Given the description of an element on the screen output the (x, y) to click on. 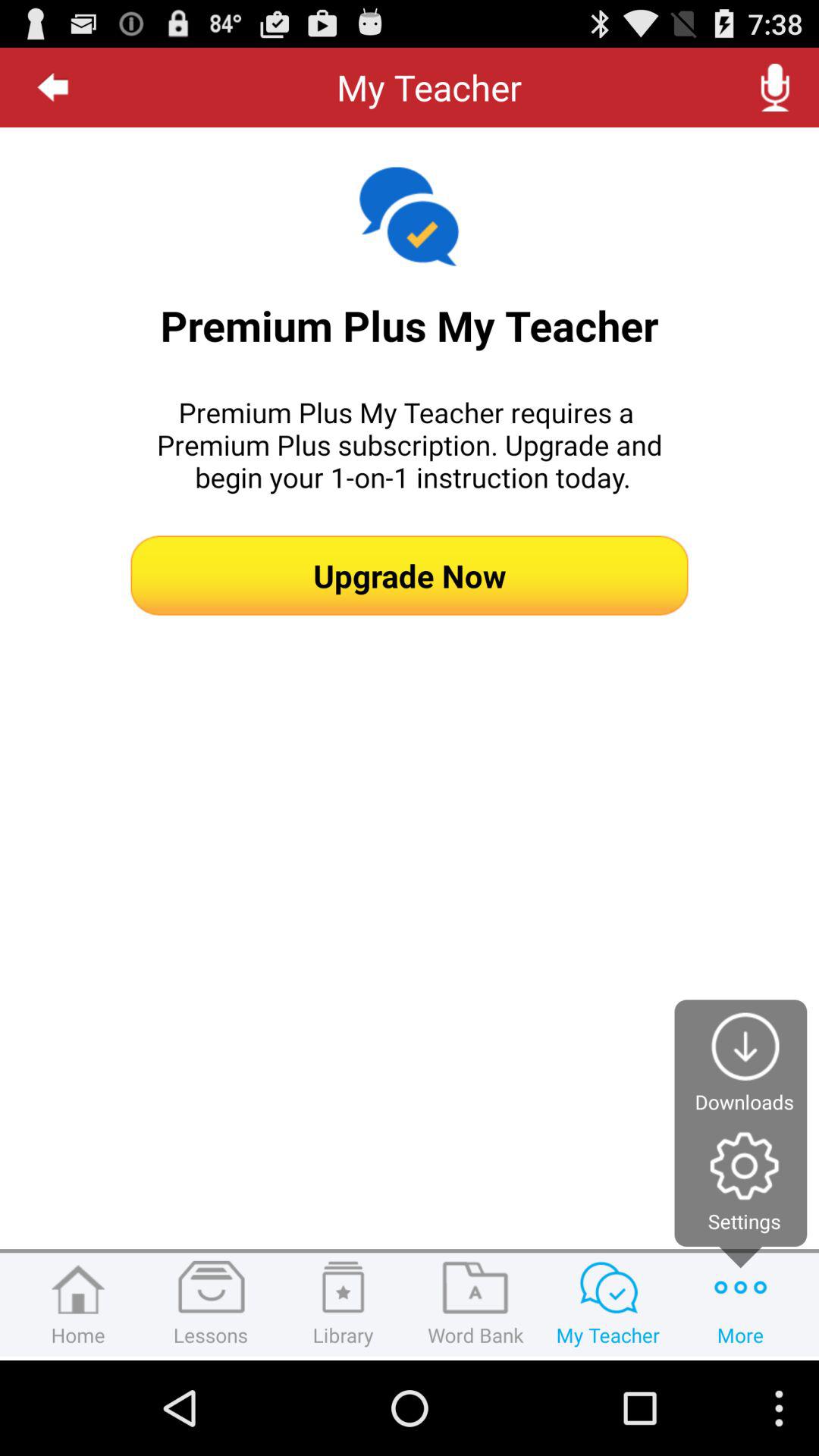
tap the app to the right of the my teacher icon (775, 87)
